Given the description of an element on the screen output the (x, y) to click on. 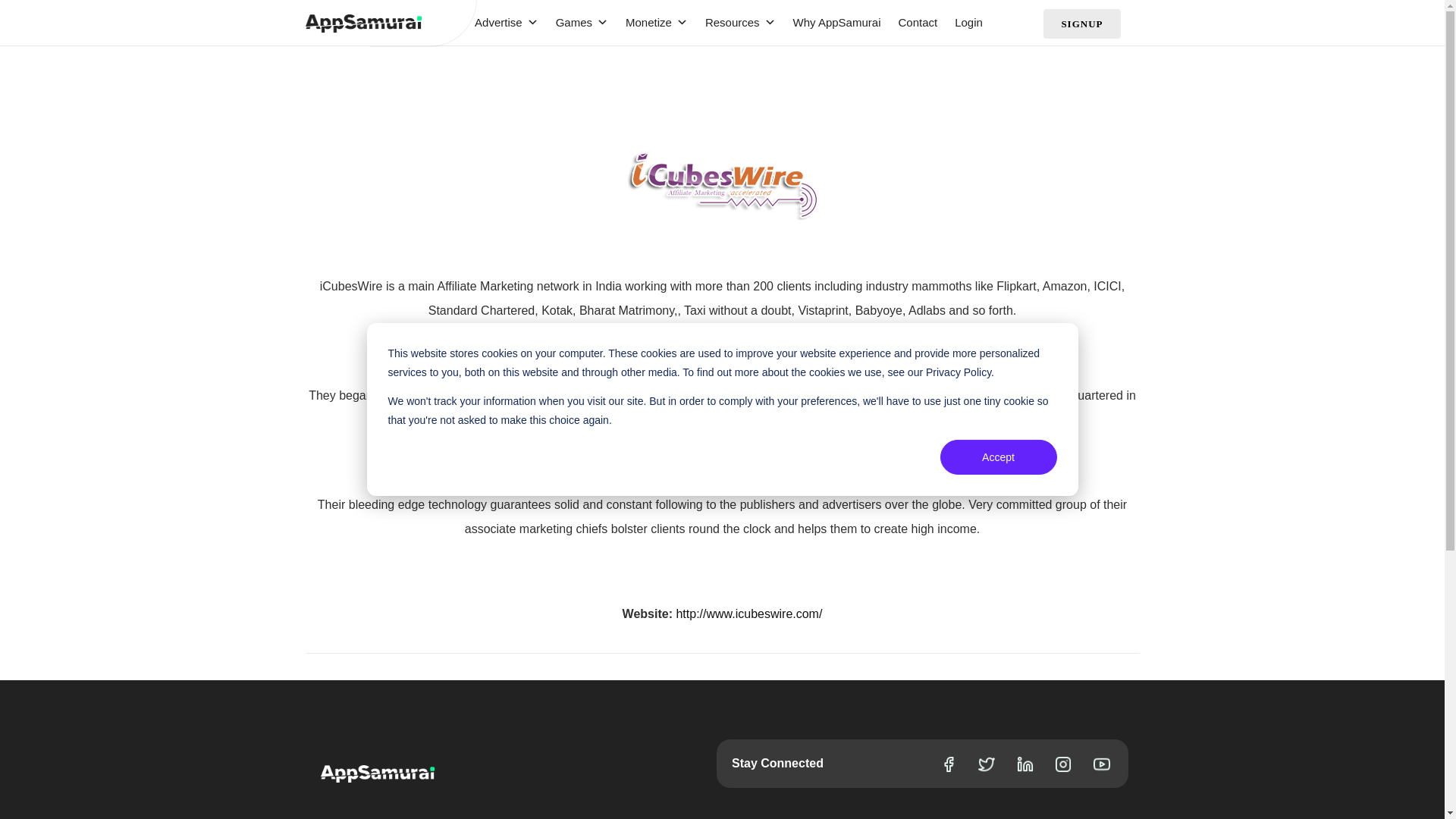
SIGNUP (1081, 23)
Games (574, 22)
Resources (733, 22)
Monetize (648, 22)
Login (960, 22)
Contact (909, 22)
Ekran-Resmi-2016-07-18-23.33.18 (722, 185)
Advertise (499, 22)
Why AppSamurai (828, 22)
